Given the description of an element on the screen output the (x, y) to click on. 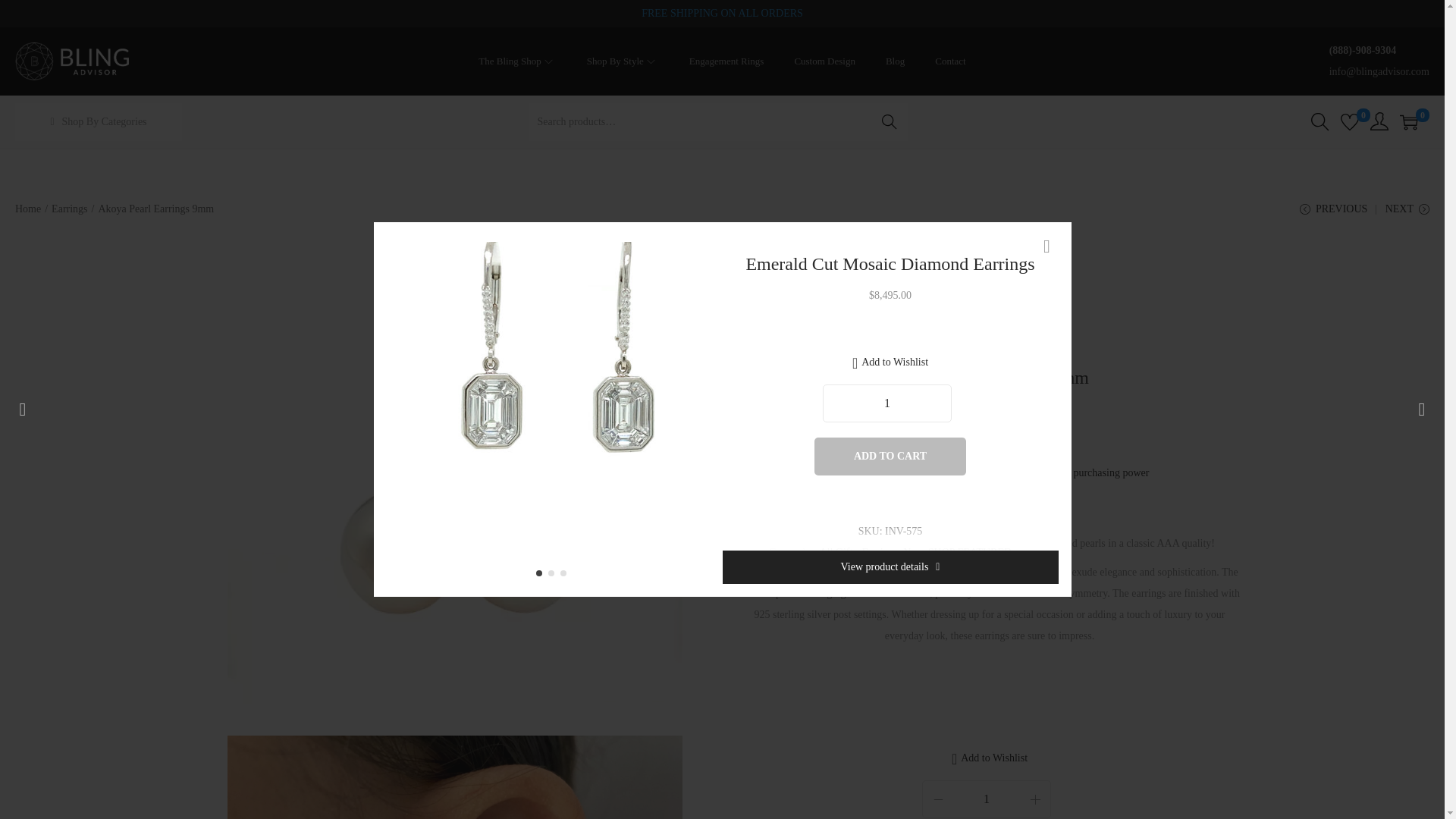
All Gifts (837, 552)
New (912, 552)
ADD TO CART (889, 456)
1 (887, 403)
Add to Wishlist (889, 362)
View product details (890, 566)
SHOP FEATURED (969, 552)
Next (705, 409)
1 (986, 798)
Previous (403, 409)
3 (566, 576)
The Bling Shop (517, 61)
1 (541, 576)
2 (554, 576)
Earrings (879, 552)
